Given the description of an element on the screen output the (x, y) to click on. 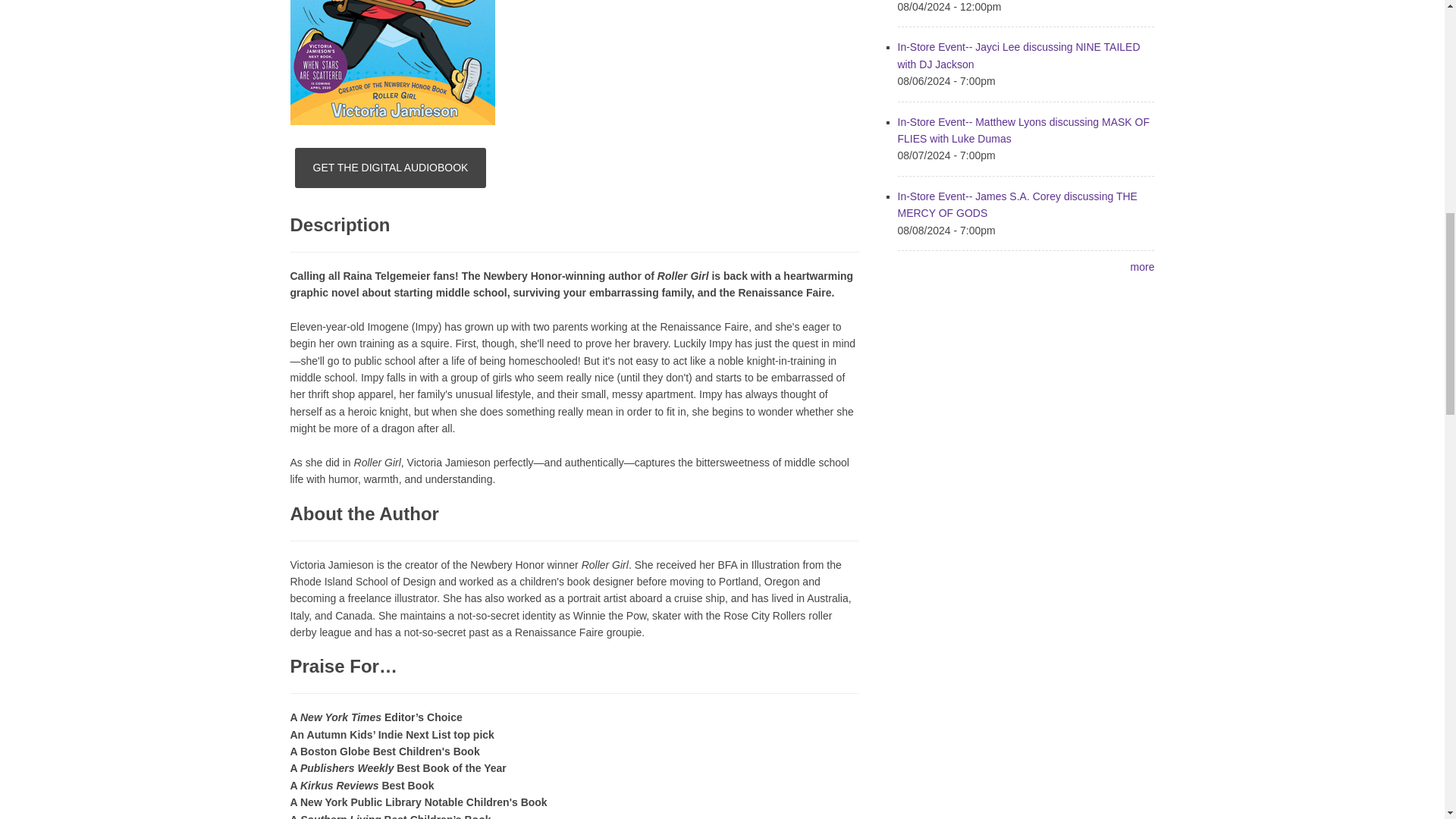
Get the Digital Audiobook (390, 167)
